Given the description of an element on the screen output the (x, y) to click on. 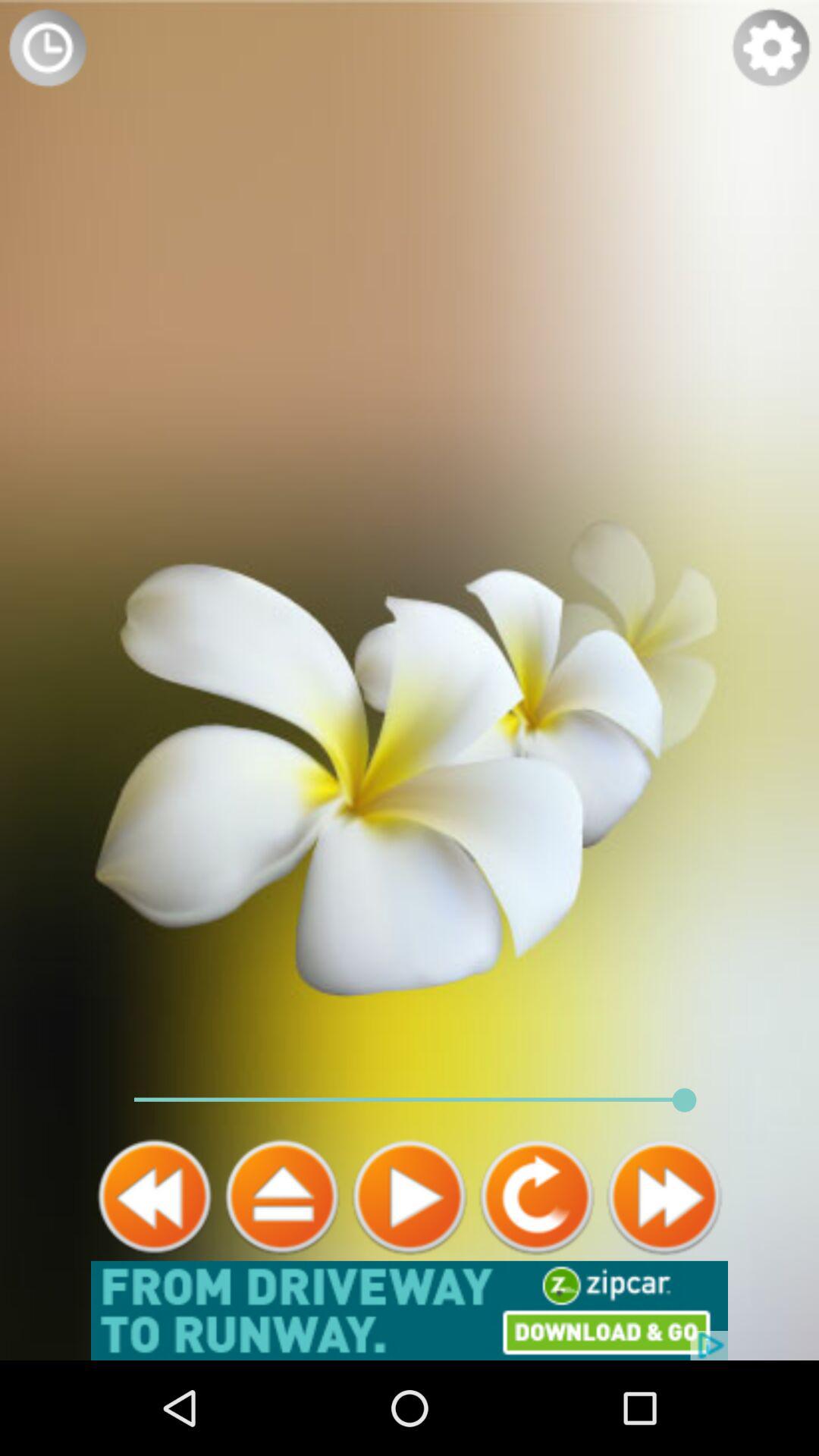
go back (154, 1196)
